Given the description of an element on the screen output the (x, y) to click on. 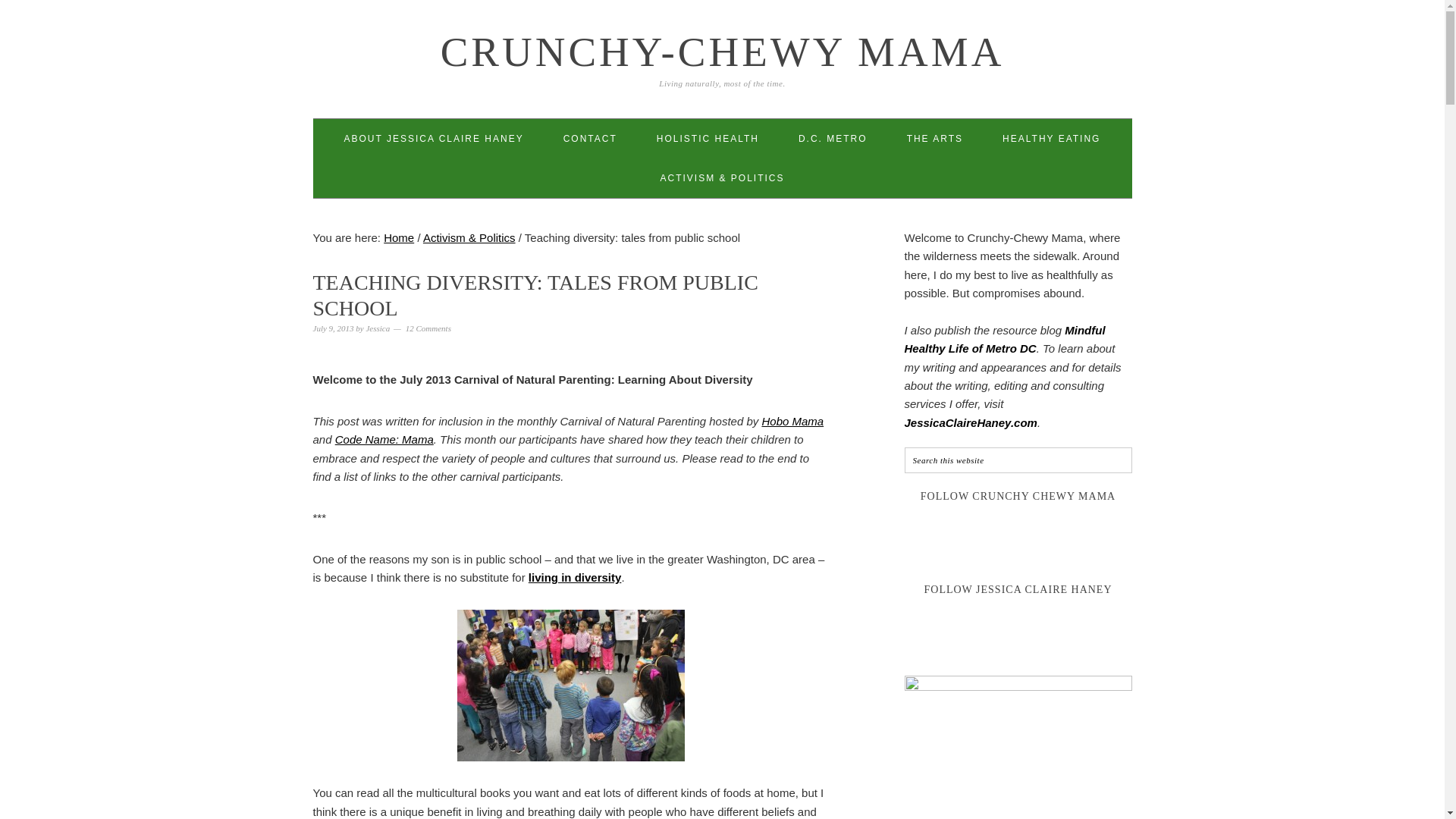
HEALTHY EATING (1051, 138)
D.C. METRO (832, 138)
Hobo Mama (792, 420)
Code Name: Mama (383, 439)
Home (398, 237)
HOLISTIC HEALTH (707, 138)
ABOUT JESSICA CLAIRE HANEY (433, 138)
CRUNCHY-CHEWY MAMA (722, 51)
CONTACT (590, 138)
